Given the description of an element on the screen output the (x, y) to click on. 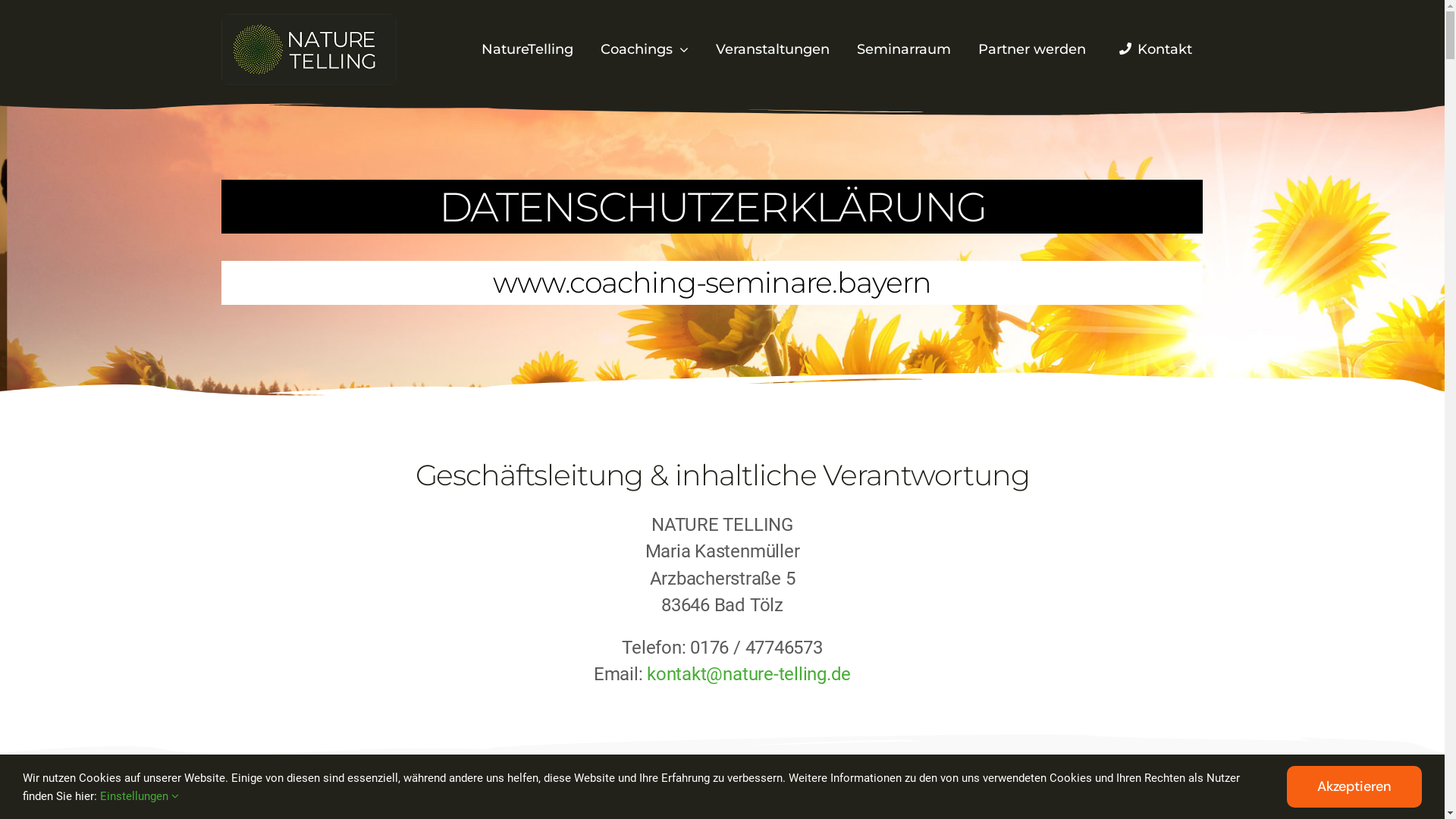
Veranstaltungen Element type: text (772, 50)
Partner werden Element type: text (1031, 50)
Coachings Element type: text (644, 50)
Einstellungen Element type: text (139, 795)
Akzeptieren Element type: text (1353, 786)
Kontakt Element type: text (1152, 50)
NatureTelling Element type: text (526, 50)
kontakt@nature-telling.de Element type: text (748, 673)
Seminarraum Element type: text (903, 50)
